Given the description of an element on the screen output the (x, y) to click on. 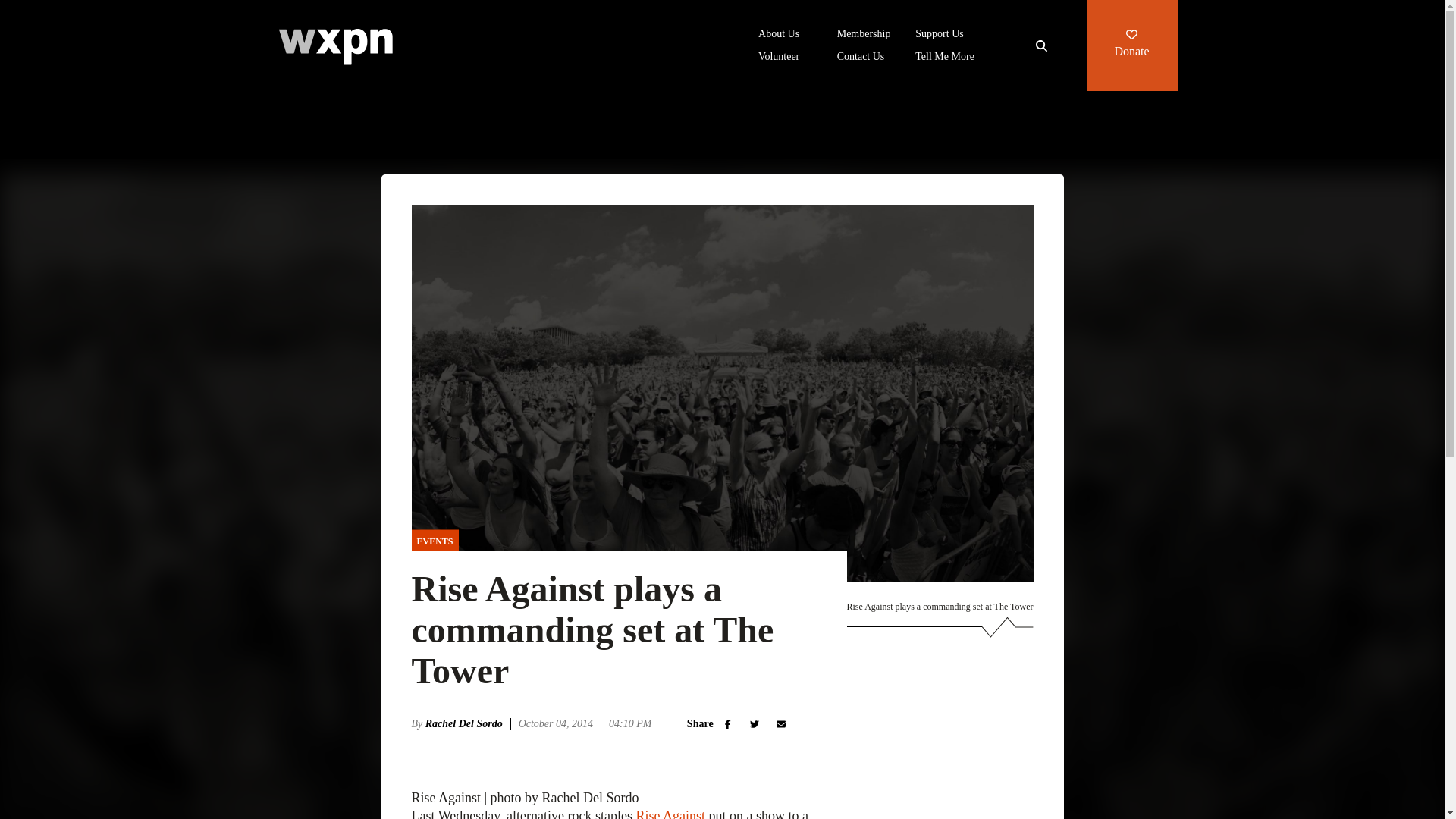
Rise Against (669, 813)
About Us (778, 35)
Contact Us (861, 57)
Volunteer (778, 57)
Support Us (938, 35)
Membership (864, 35)
Rachel Del Sordo (468, 723)
Donate (1131, 45)
Tell Me More (944, 57)
